Given the description of an element on the screen output the (x, y) to click on. 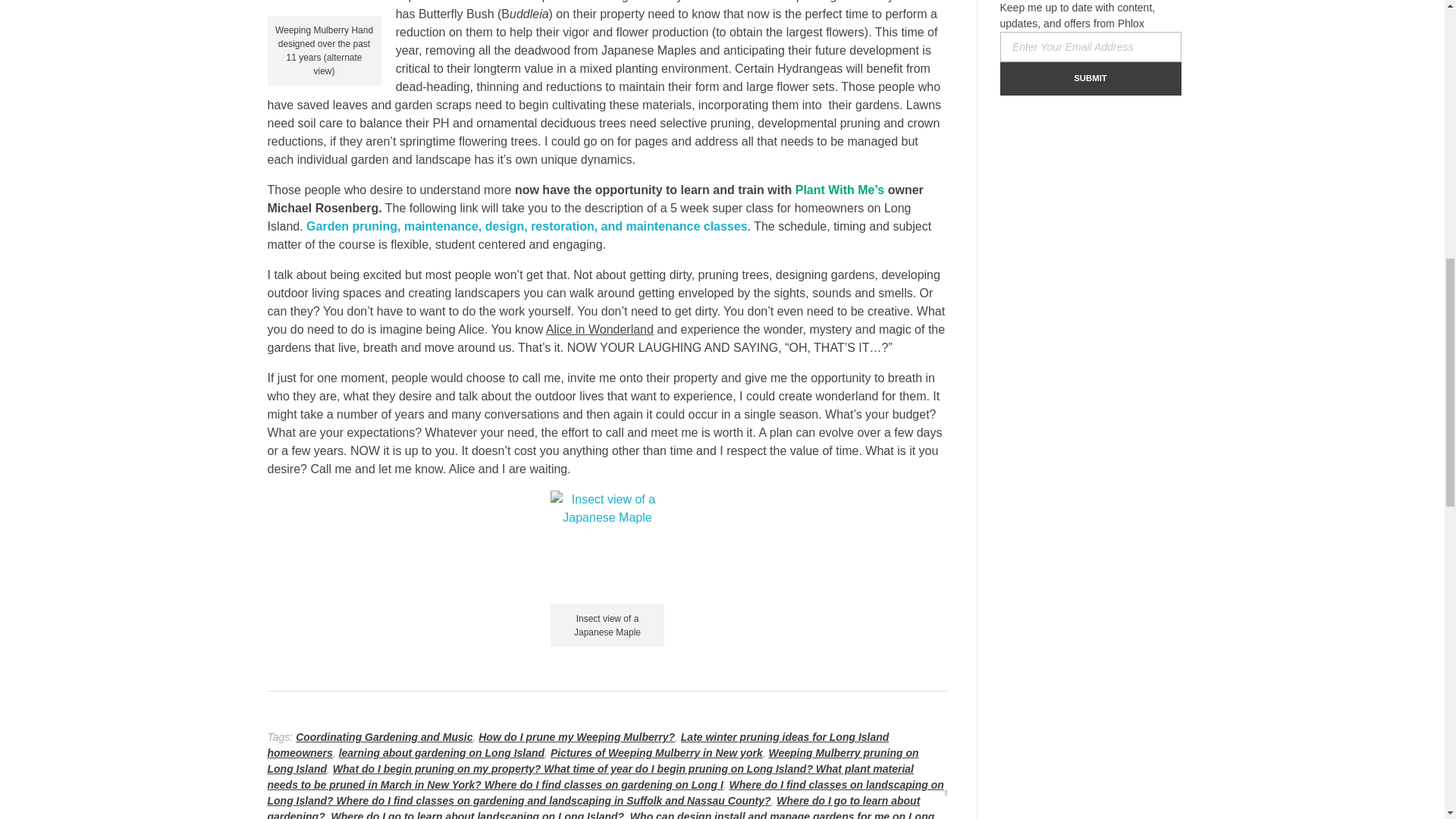
Submit (1089, 78)
Where do I go to learn about gardening? (593, 806)
Late winter pruning ideas for Long Island homeowners (577, 745)
Weeping Mulberry pruning on Long Island (592, 760)
How do I prune my Weeping Mulberry? (577, 736)
Coordinating Gardening and Music (383, 736)
Where do I go to learn about landscaping on Long Island? (477, 814)
Pictures of Weeping Mulberry in New york (656, 752)
learning about gardening on Long Island (441, 752)
